Given the description of an element on the screen output the (x, y) to click on. 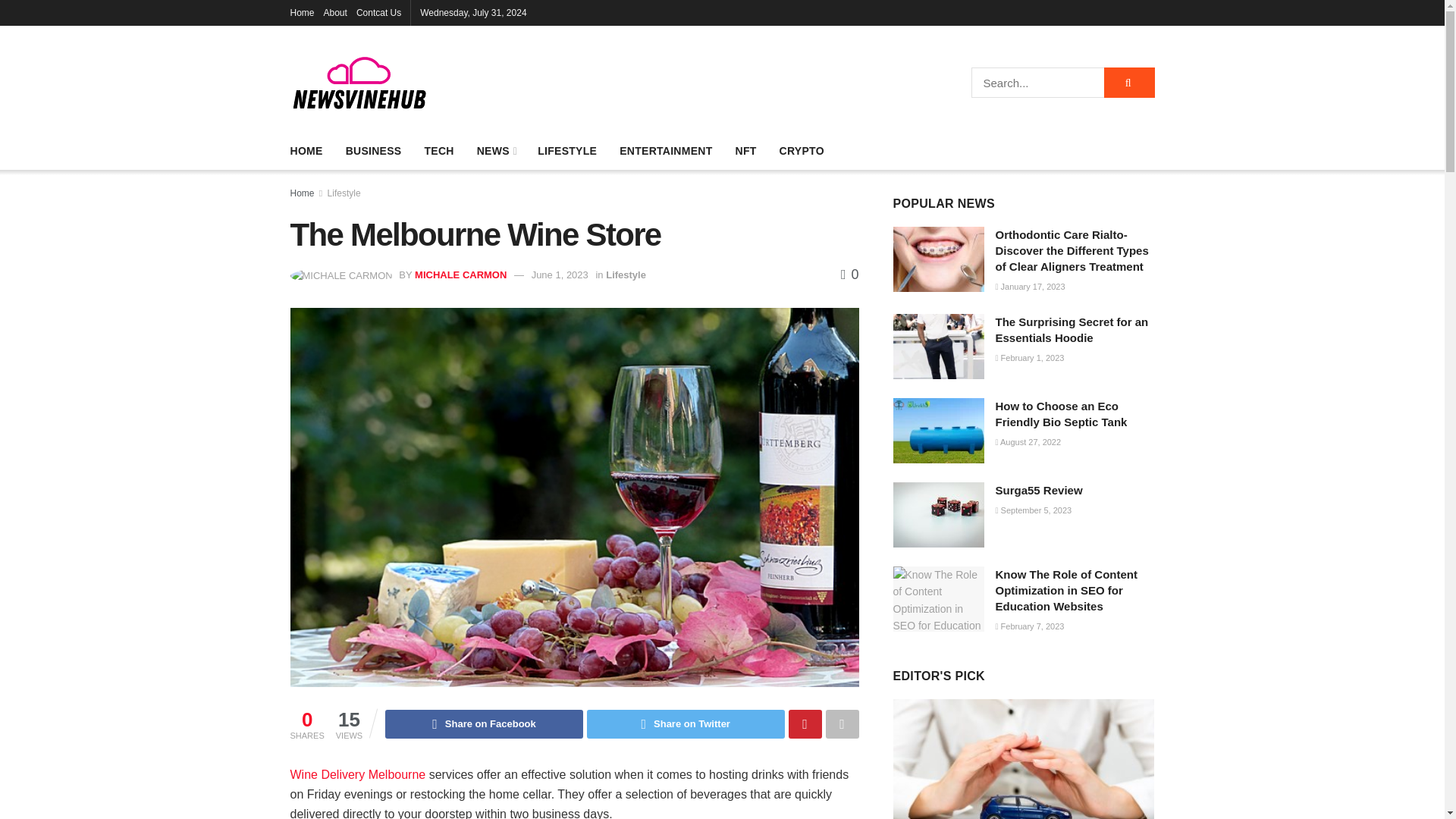
NEWS (496, 150)
Contcat Us (378, 12)
Home (301, 12)
CRYPTO (801, 150)
About (335, 12)
LIFESTYLE (566, 150)
BUSINESS (373, 150)
HOME (305, 150)
TECH (437, 150)
ENTERTAINMENT (665, 150)
NFT (746, 150)
